Given the description of an element on the screen output the (x, y) to click on. 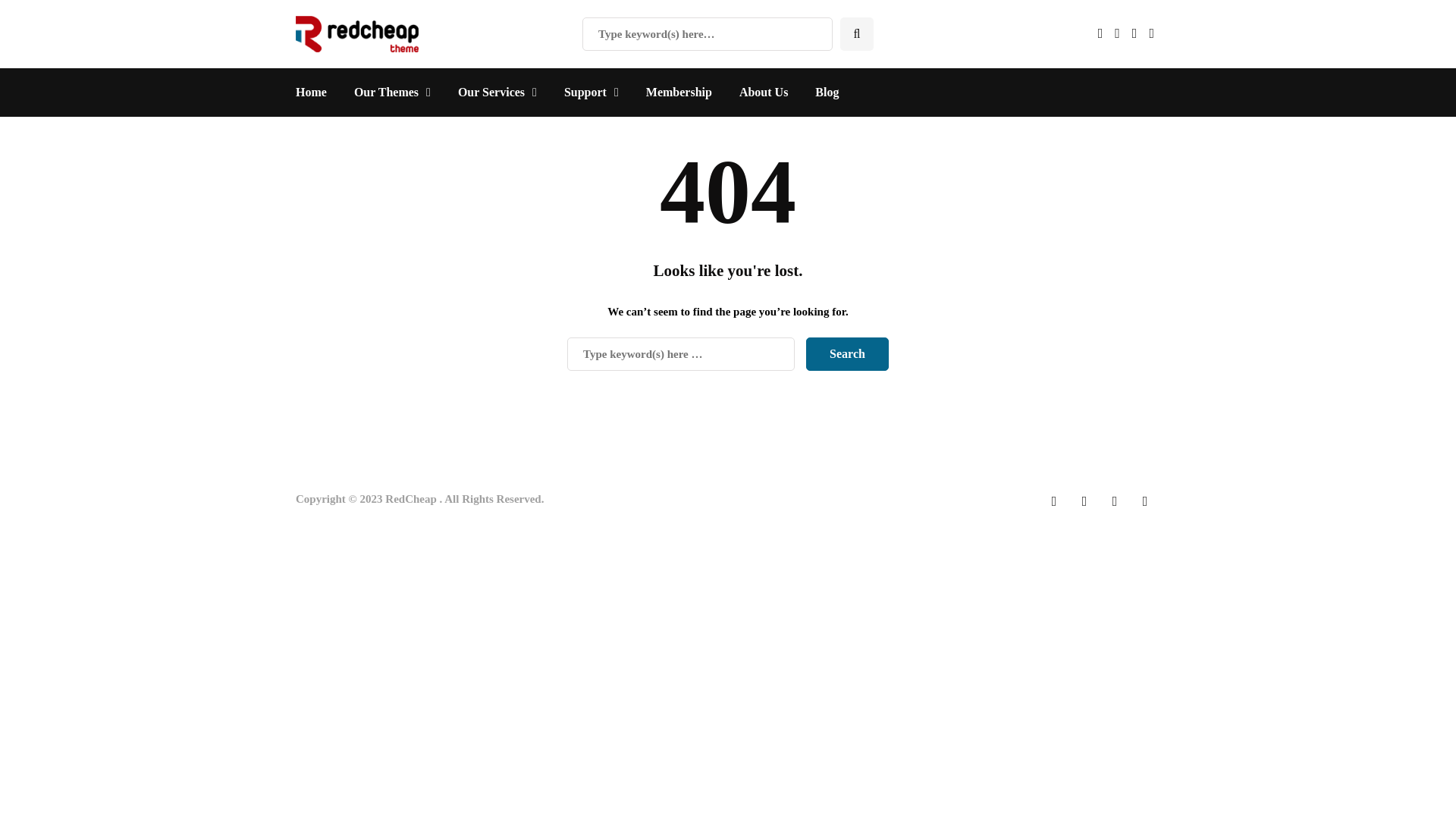
Our Themes (392, 92)
About Us (763, 92)
Search (847, 353)
Home (317, 92)
Support (590, 92)
Membership (678, 92)
Our Services (497, 92)
Blog (826, 92)
Search (847, 353)
Search (41, 16)
